Given the description of an element on the screen output the (x, y) to click on. 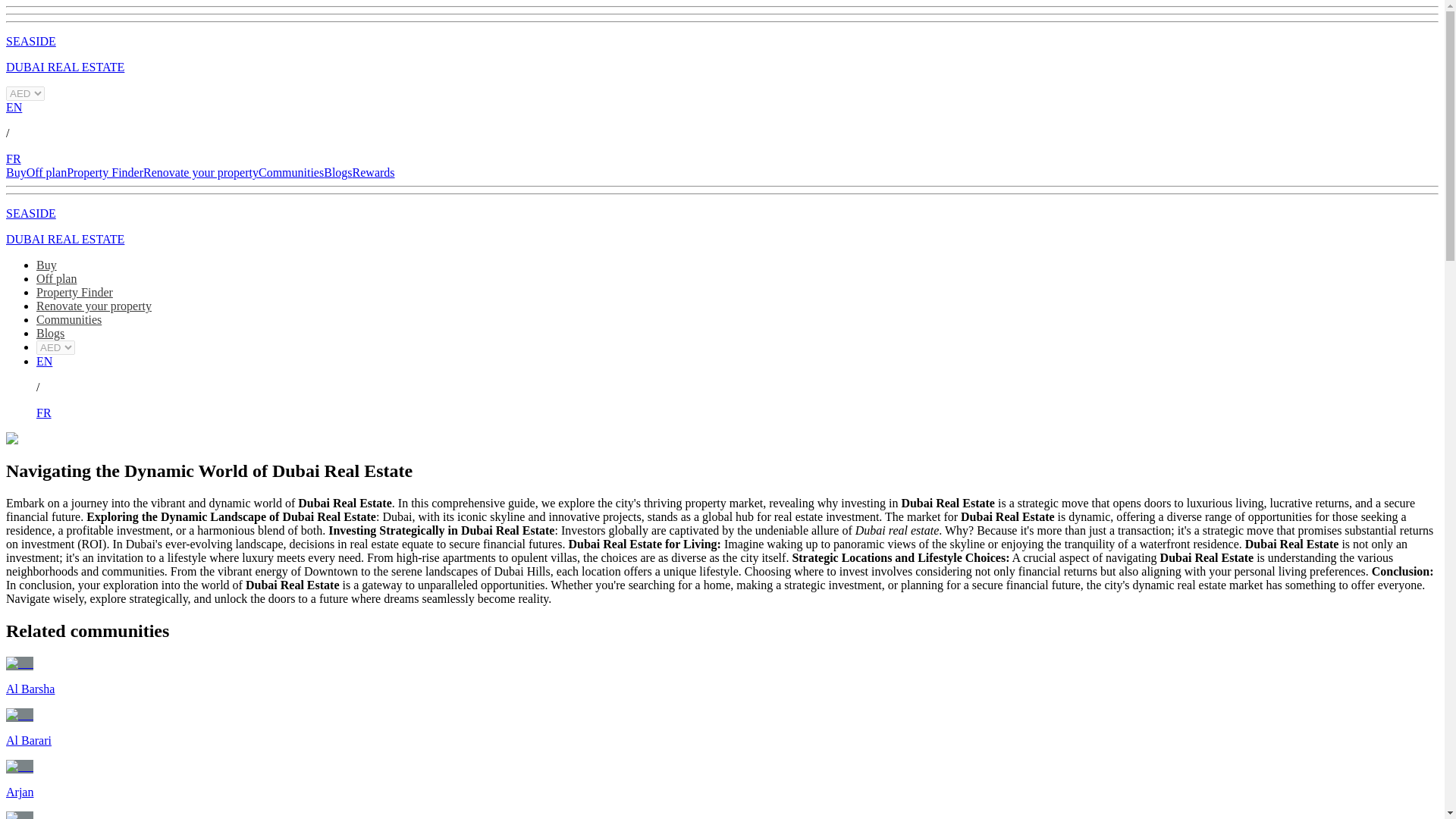
Property Finder (74, 291)
EN (44, 360)
Property Finder (104, 172)
Buy (15, 172)
Communities (68, 318)
Renovate your property (200, 172)
FR (43, 412)
Blogs (50, 332)
Off plan (56, 278)
Off plan (46, 172)
EN (13, 106)
Rewards (373, 172)
Blogs (337, 172)
Communities (291, 172)
Renovate your property (93, 305)
